Given the description of an element on the screen output the (x, y) to click on. 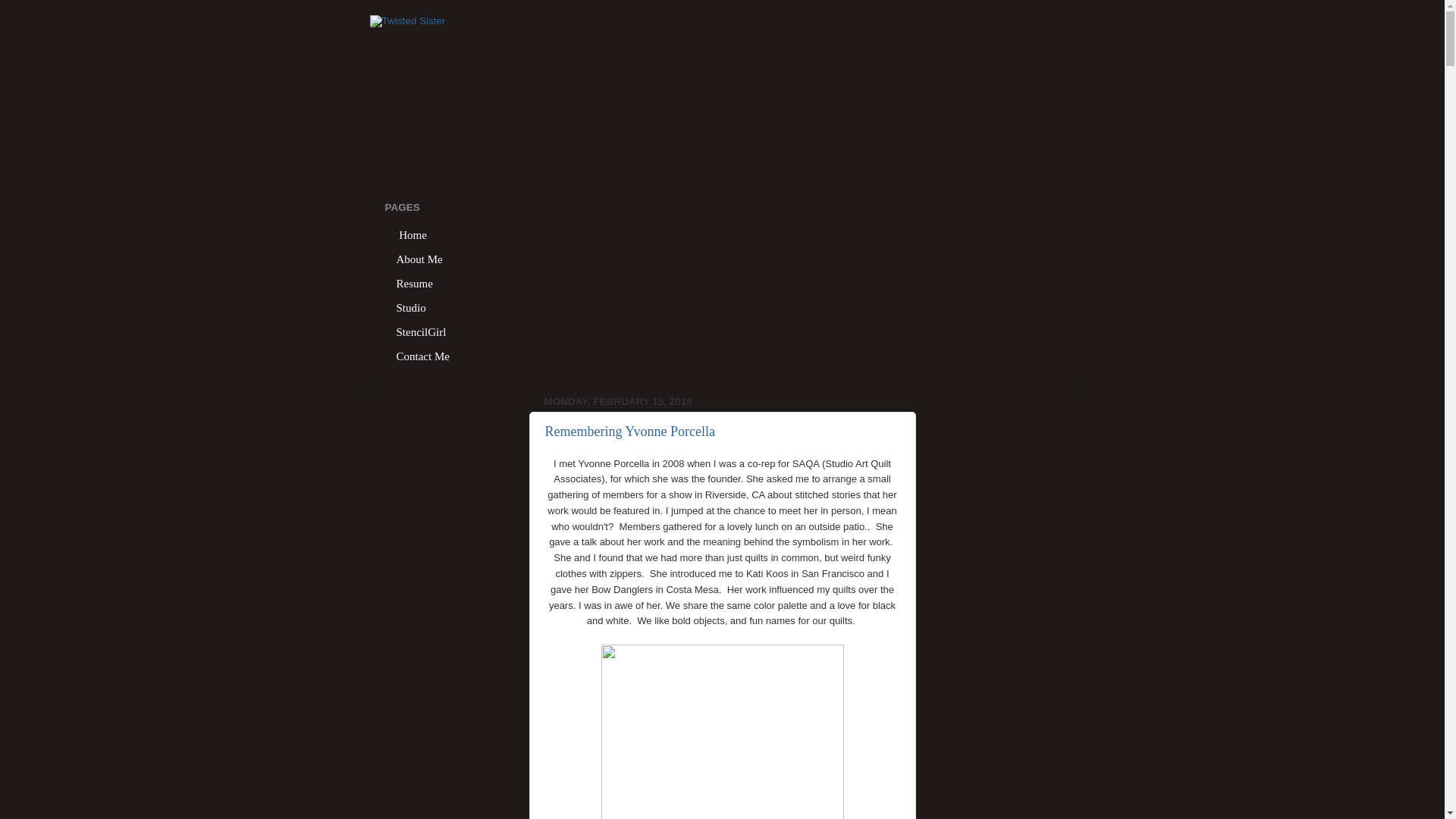
StencilGirl (421, 331)
Remembering Yvonne Porcella (629, 431)
Resume (415, 283)
Studio (411, 307)
Contact Me (423, 355)
About Me (419, 259)
Home (412, 234)
